Given the description of an element on the screen output the (x, y) to click on. 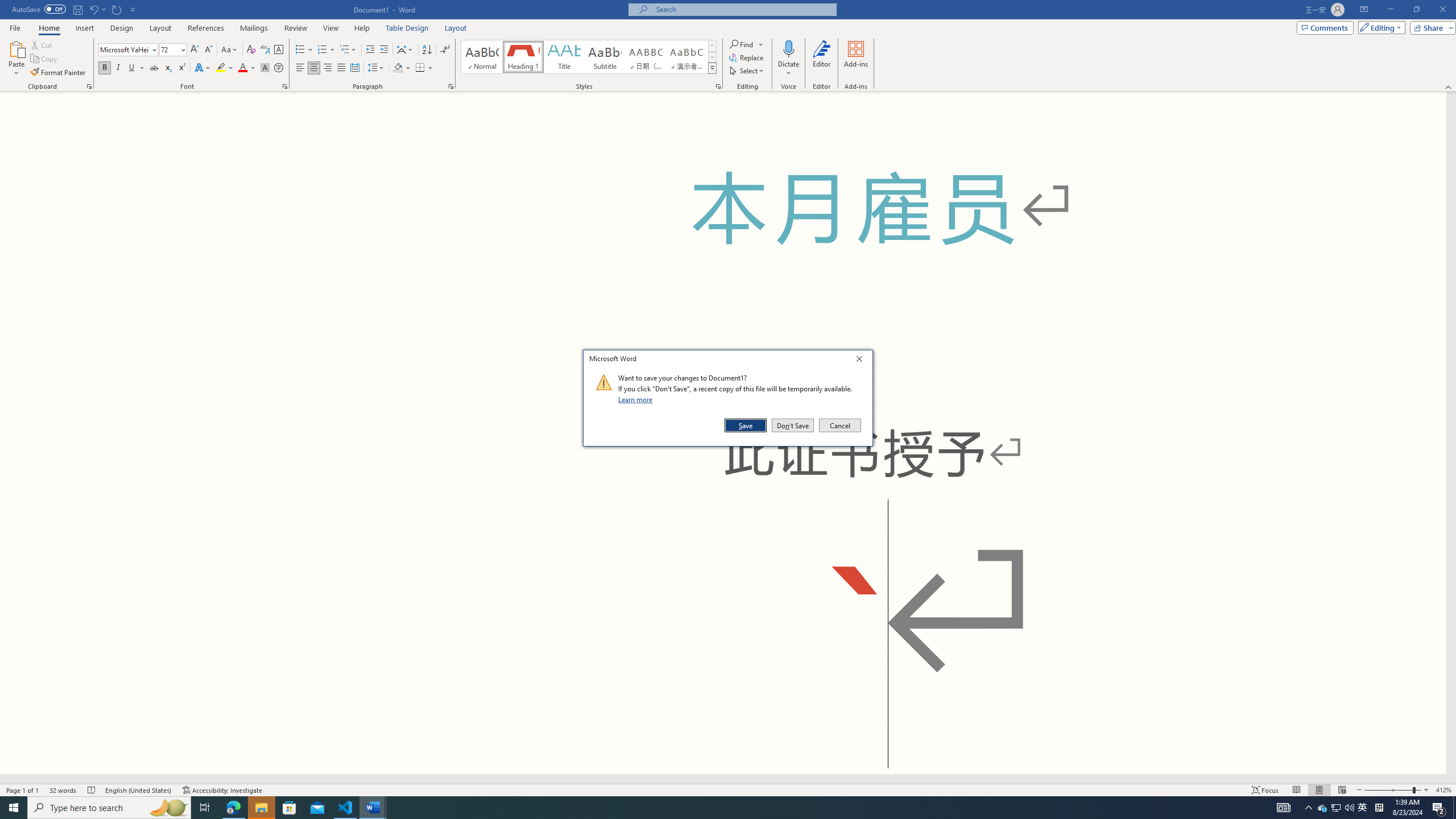
Font Color Red (241, 67)
Microsoft Edge - 1 running window (233, 807)
File Explorer - 1 running window (261, 807)
